Given the description of an element on the screen output the (x, y) to click on. 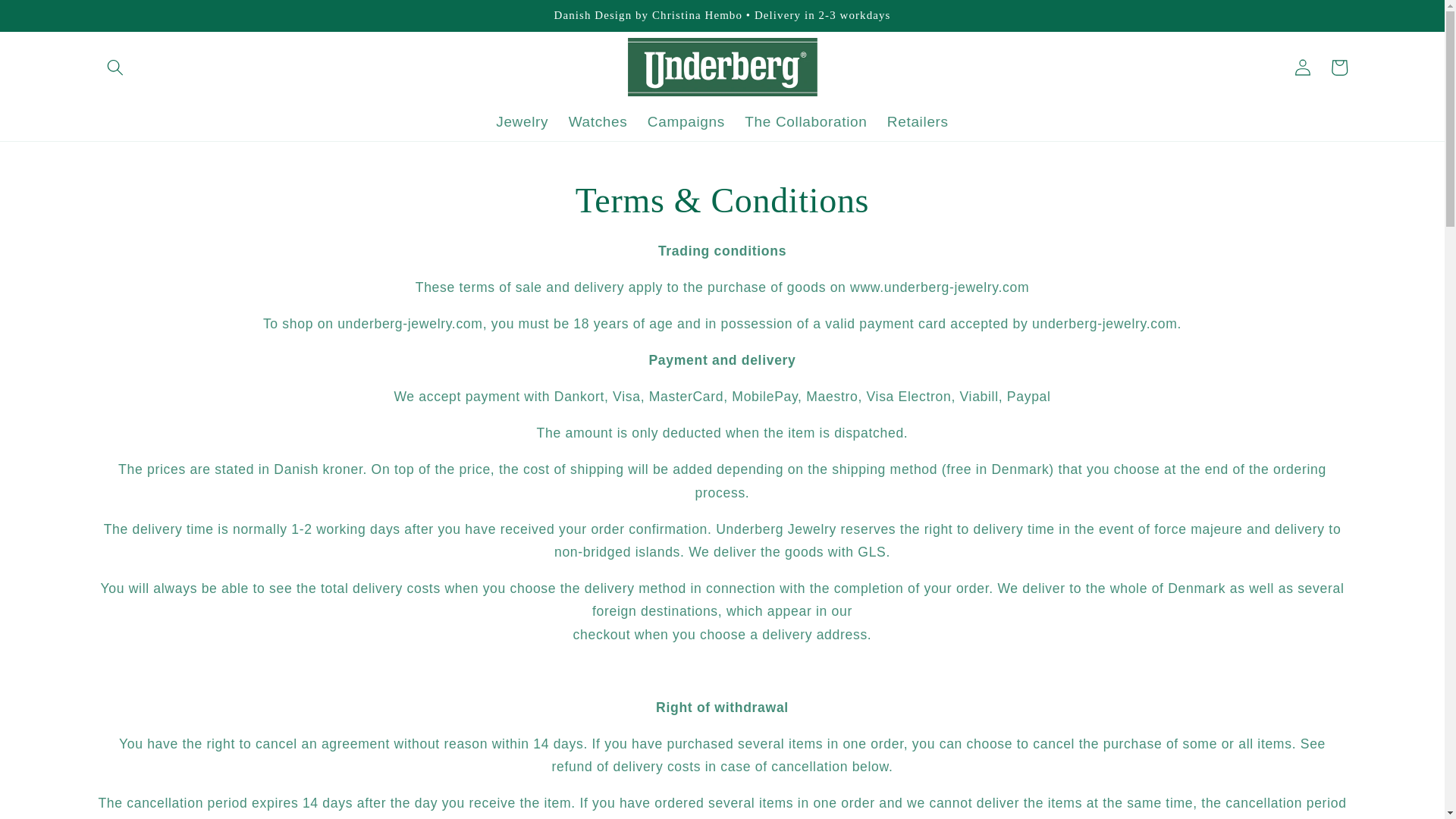
Skip to content (49, 18)
The Collaboration (806, 122)
Retailers (917, 122)
Campaigns (686, 122)
Watches (597, 122)
Jewelry (521, 122)
Log in (1302, 67)
Cart (1338, 67)
